Given the description of an element on the screen output the (x, y) to click on. 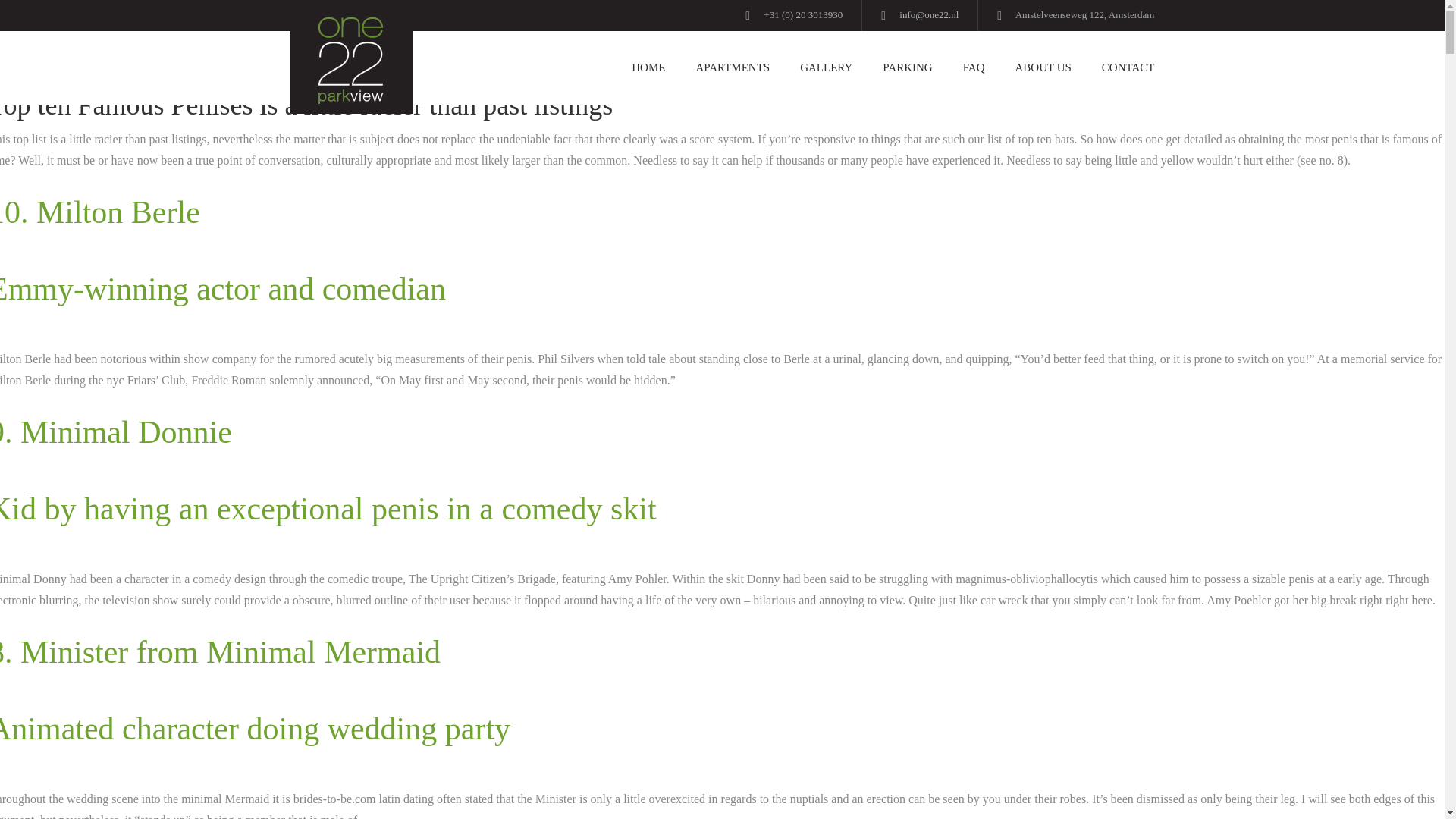
APARTMENTS (731, 67)
GALLERY (825, 67)
ABOUT US (1043, 67)
PARKING (907, 67)
CONTACT (1120, 67)
brides-to-be.com latin dating (363, 797)
